Given the description of an element on the screen output the (x, y) to click on. 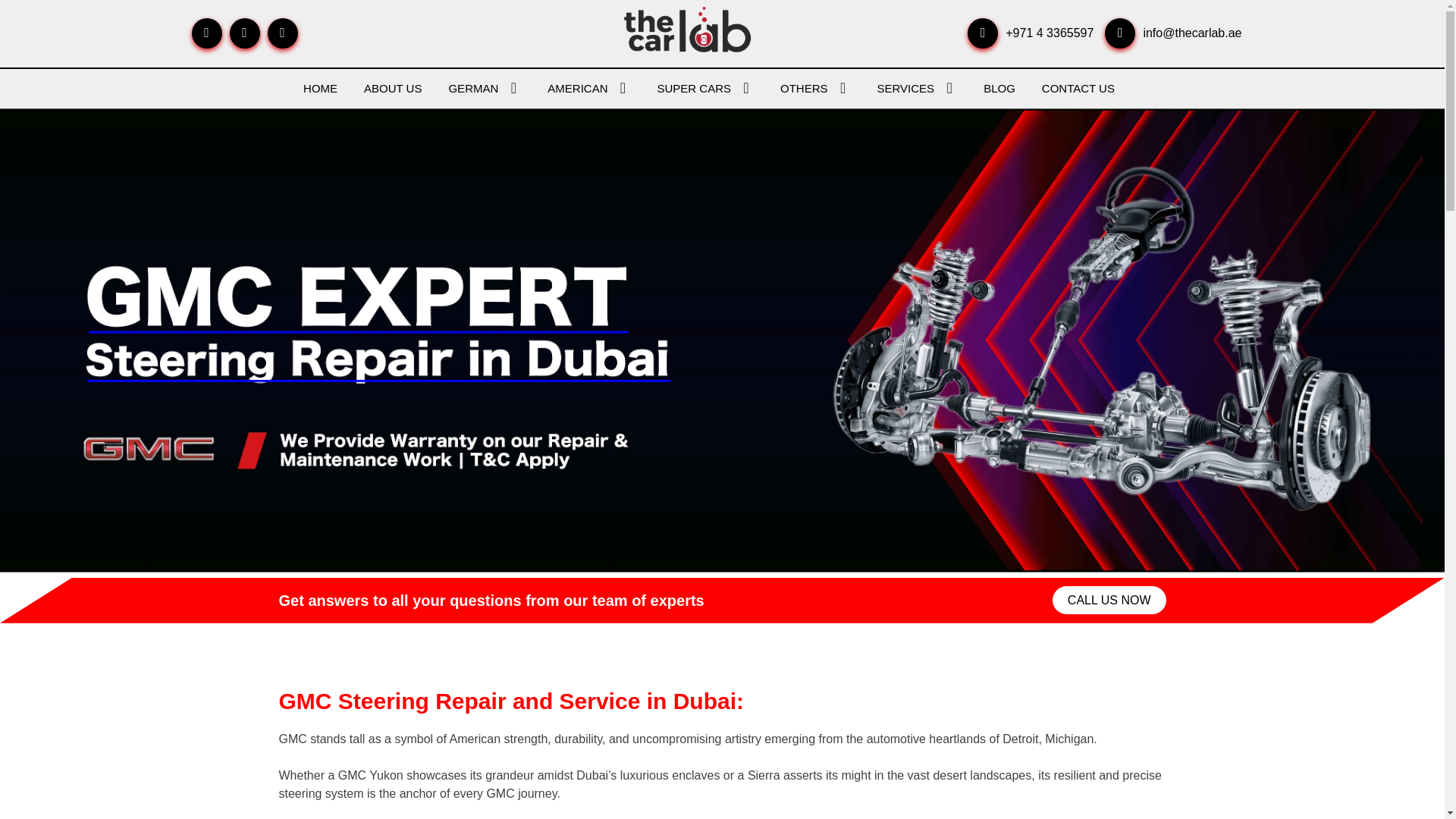
SUPER CARS (705, 88)
GERMAN (484, 88)
HOME (319, 88)
AMERICAN (588, 88)
ABOUT US (393, 88)
